Given the description of an element on the screen output the (x, y) to click on. 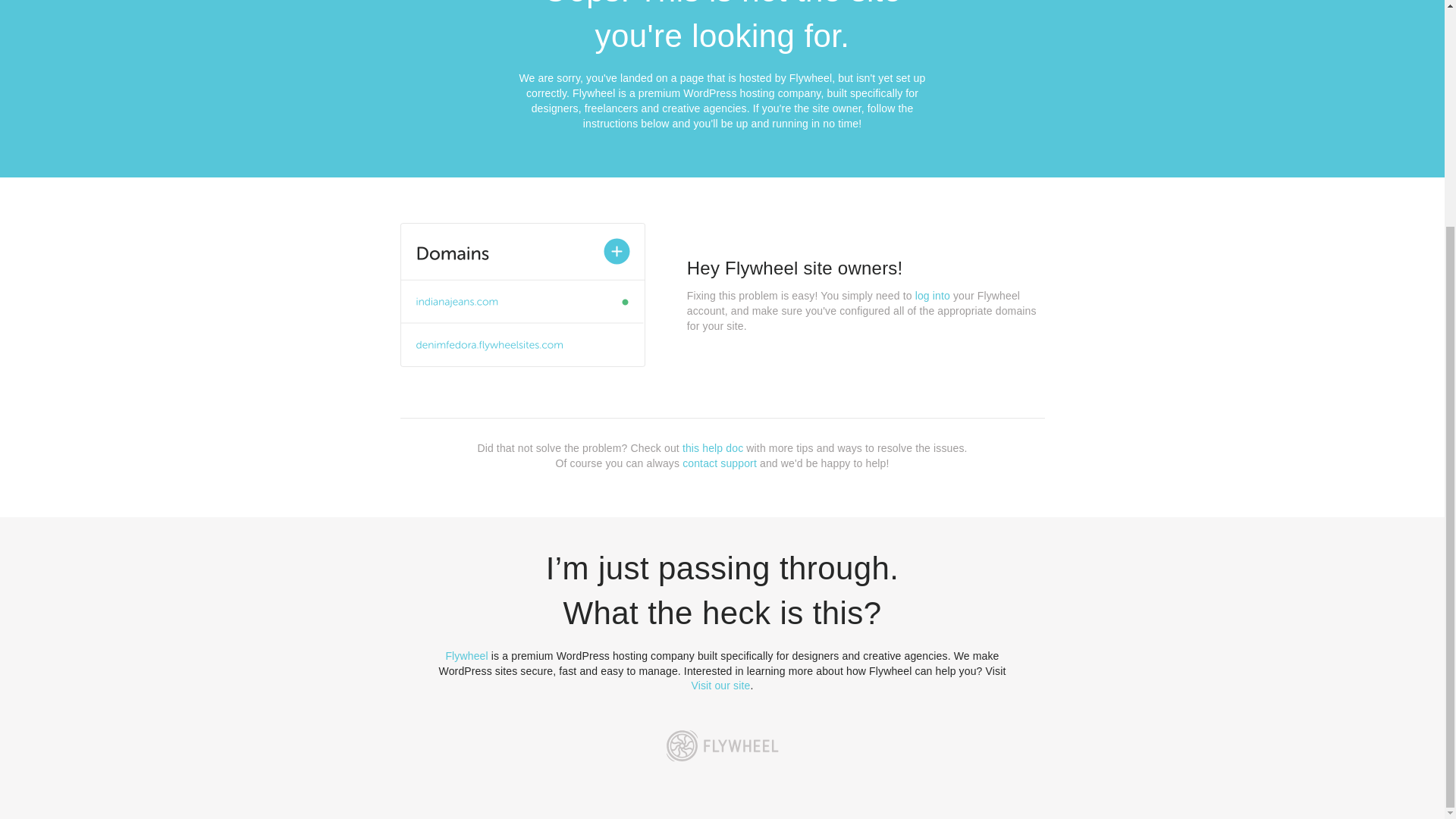
log into (932, 295)
contact support (719, 463)
Visit our site (721, 685)
this help doc (712, 448)
Flywheel (466, 655)
